Given the description of an element on the screen output the (x, y) to click on. 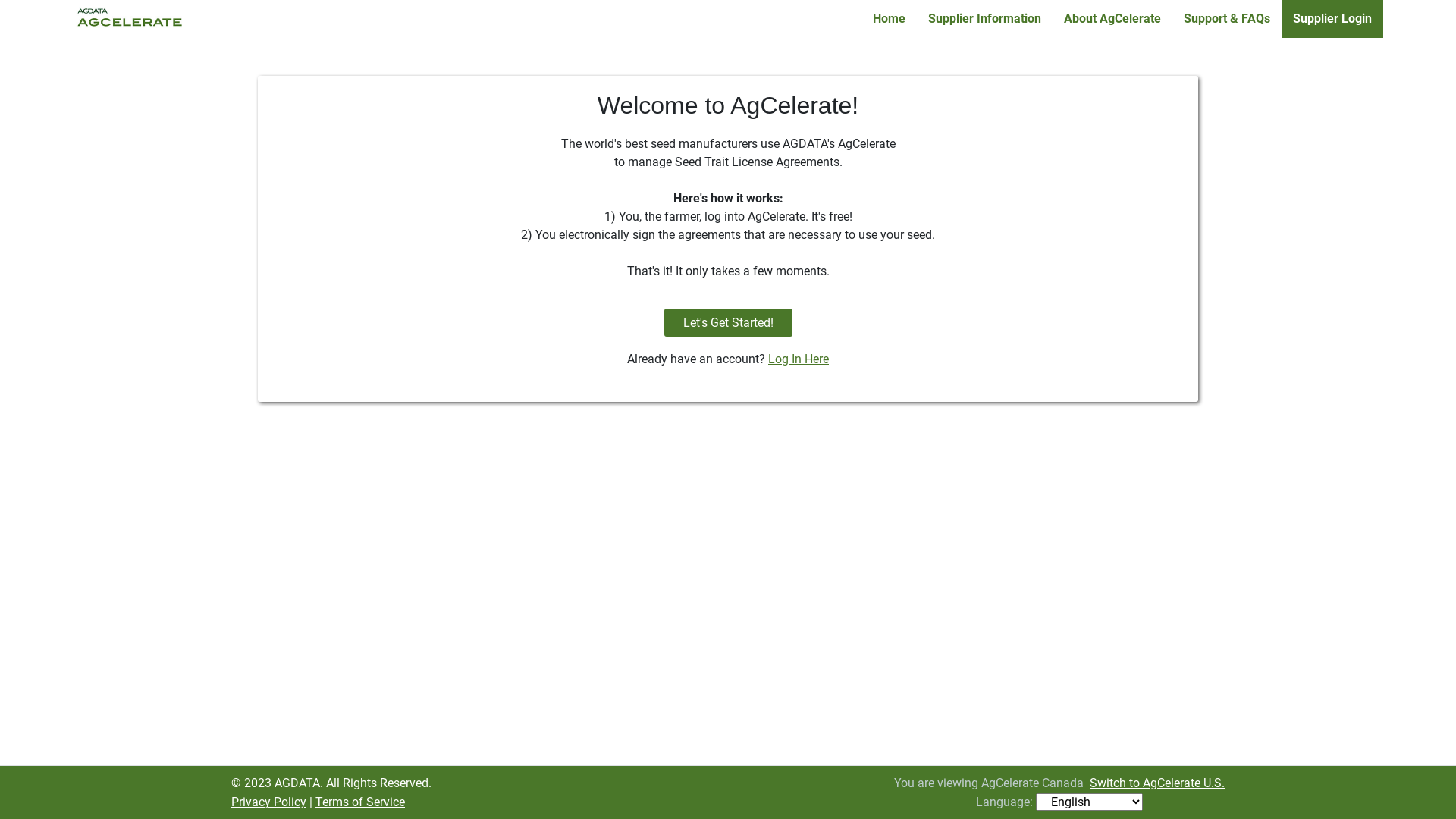
About AgCelerate Element type: text (1112, 18)
Switch to AgCelerate U.S. Element type: text (1156, 782)
Support & FAQs Element type: text (1226, 18)
Log In Here Element type: text (798, 358)
Supplier Login Element type: text (1332, 18)
Privacy Policy Element type: text (268, 801)
Terms of Service Element type: text (359, 801)
Supplier Information Element type: text (984, 18)
Let's Get Started! Element type: text (728, 322)
Home Element type: text (888, 18)
